Given the description of an element on the screen output the (x, y) to click on. 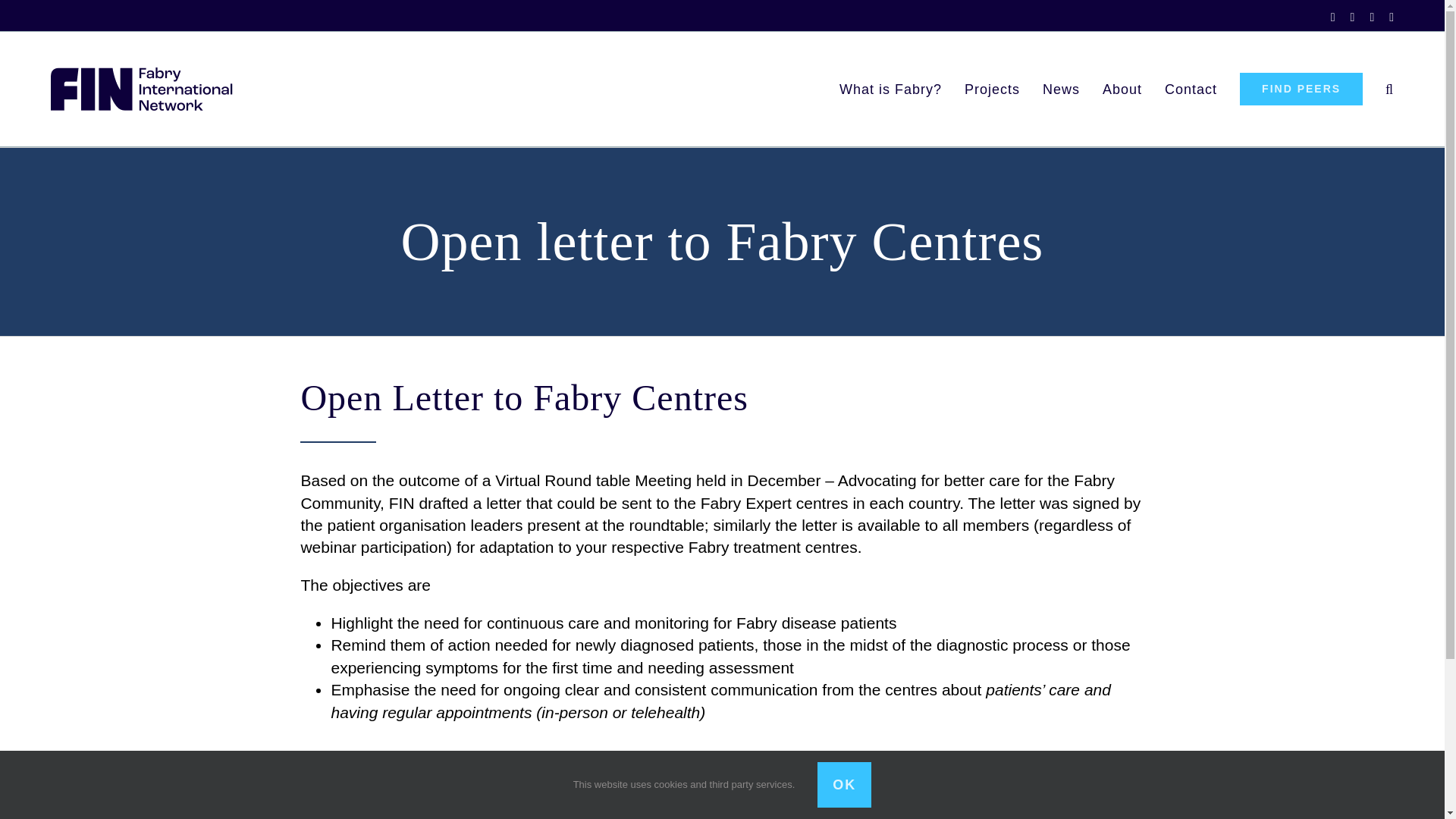
What is Fabry? (891, 88)
CLICK HERE TO DOWNLOAD THE LETTER (480, 777)
FIND PEERS (1301, 88)
